Given the description of an element on the screen output the (x, y) to click on. 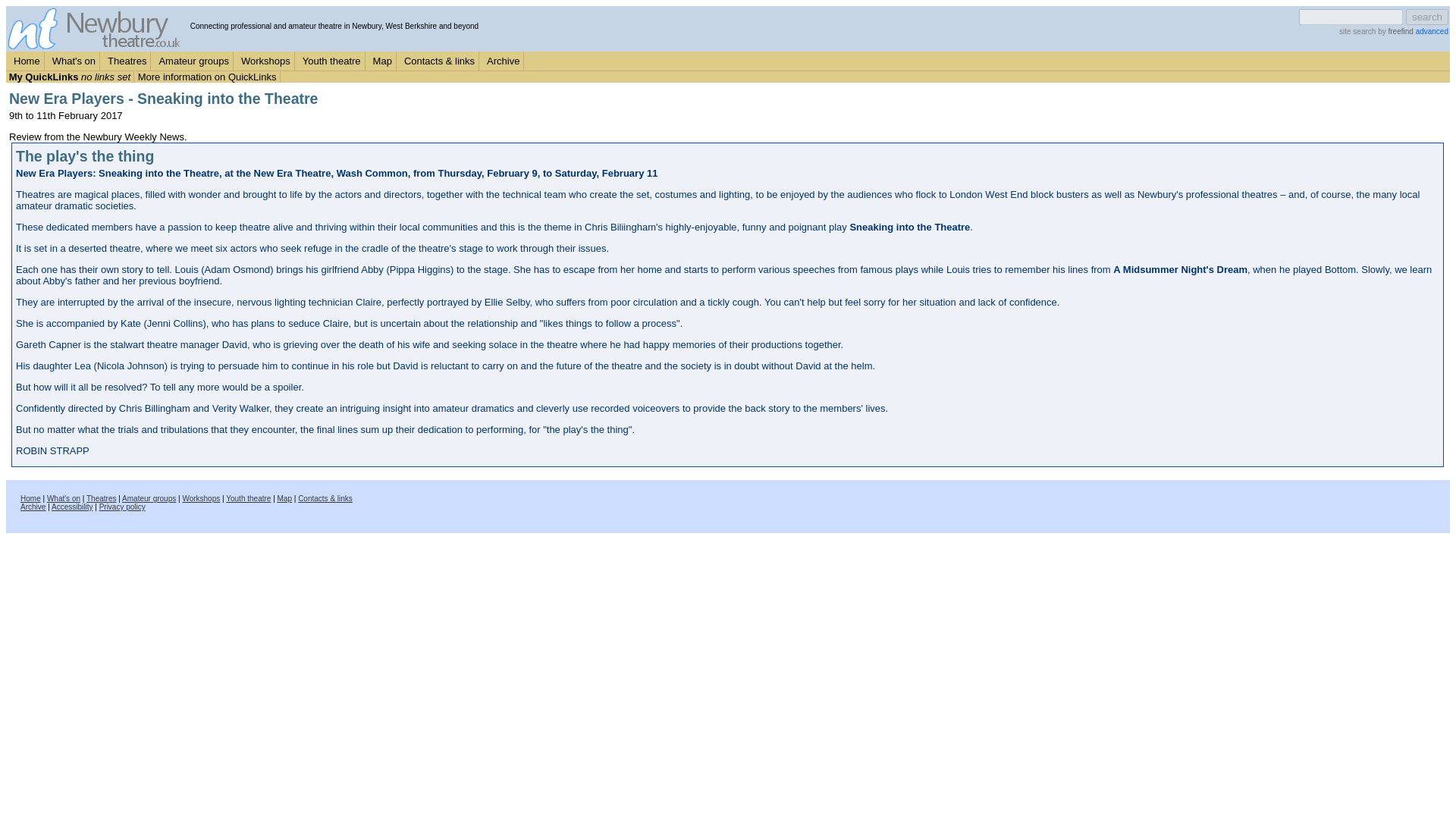
Archive (32, 506)
Amateur groups (193, 60)
Home (27, 60)
What's on (63, 498)
More information on QuickLinks (207, 76)
Workshops (266, 60)
List of theatres and touring theatre companies (127, 60)
Theatres (127, 60)
Privacy policy (122, 506)
Youth theatre (247, 498)
Map (285, 498)
Theatres (100, 498)
What's on (74, 60)
Youth theatre (331, 60)
